Given the description of an element on the screen output the (x, y) to click on. 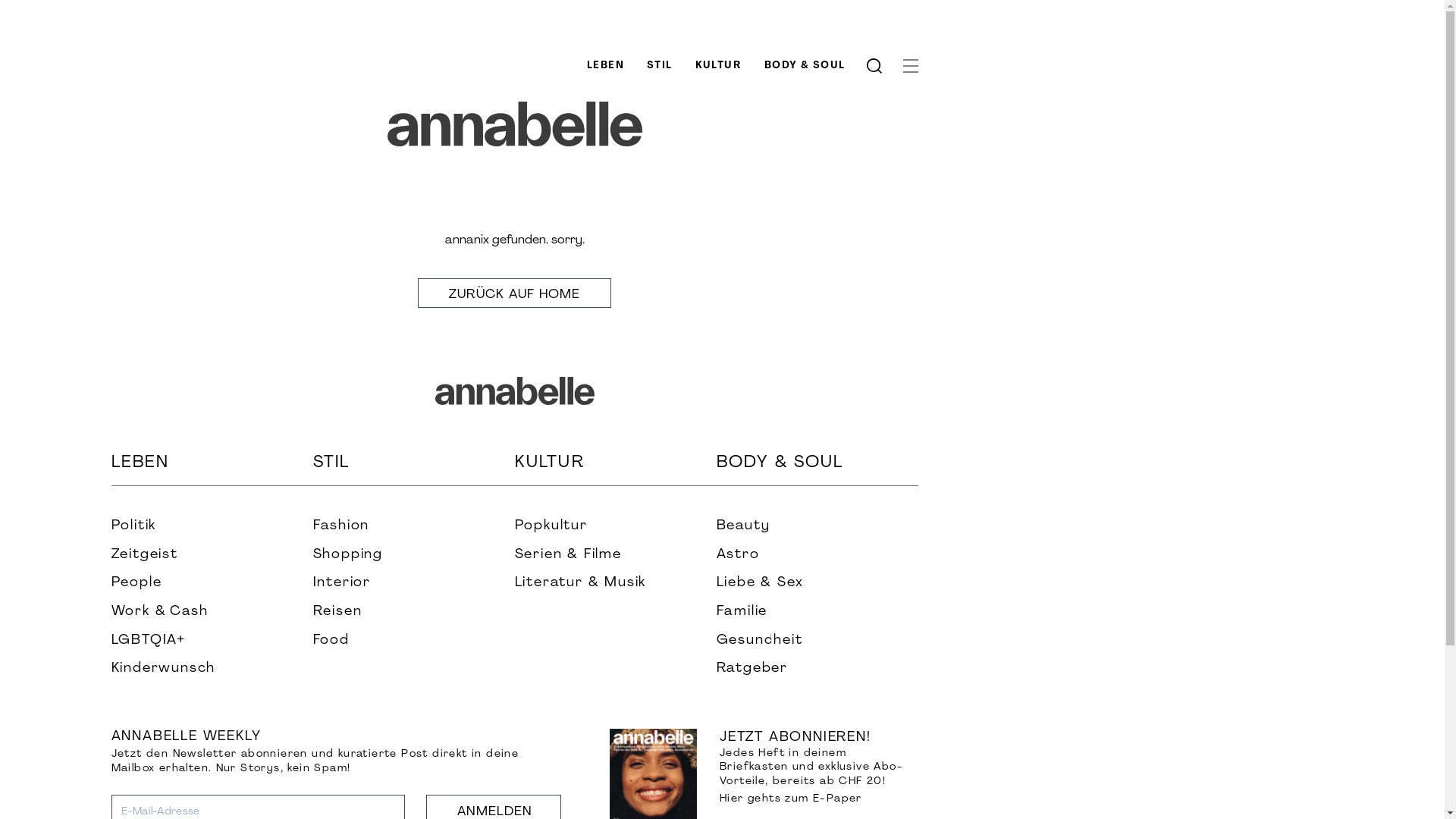
LEBEN Element type: text (605, 65)
Politik Element type: text (211, 525)
Beauty Element type: text (816, 525)
Popkultur Element type: text (614, 525)
Hier gehts zum E-Paper Element type: text (790, 798)
STIL Element type: text (413, 466)
KULTUR Element type: text (614, 466)
BODY & SOUL Element type: text (816, 466)
KULTUR Element type: text (718, 65)
LEBEN Element type: text (211, 466)
Astro Element type: text (816, 554)
People Element type: text (211, 582)
Fashion Element type: text (413, 525)
Zeitgeist Element type: text (211, 554)
Food Element type: text (413, 640)
Liebe & Sex Element type: text (816, 582)
Literatur & Musik Element type: text (614, 582)
Ratgeber Element type: text (816, 668)
Interior Element type: text (413, 582)
Serien & Filme Element type: text (614, 554)
Gesundheit Element type: text (816, 640)
Reisen Element type: text (413, 611)
Familie Element type: text (816, 611)
Shopping Element type: text (413, 554)
BODY & SOUL Element type: text (804, 65)
STIL Element type: text (659, 65)
JETZT ABONNIEREN! Element type: text (795, 737)
Kinderwunsch Element type: text (211, 668)
LGBTQIA+ Element type: text (211, 640)
